Given the description of an element on the screen output the (x, y) to click on. 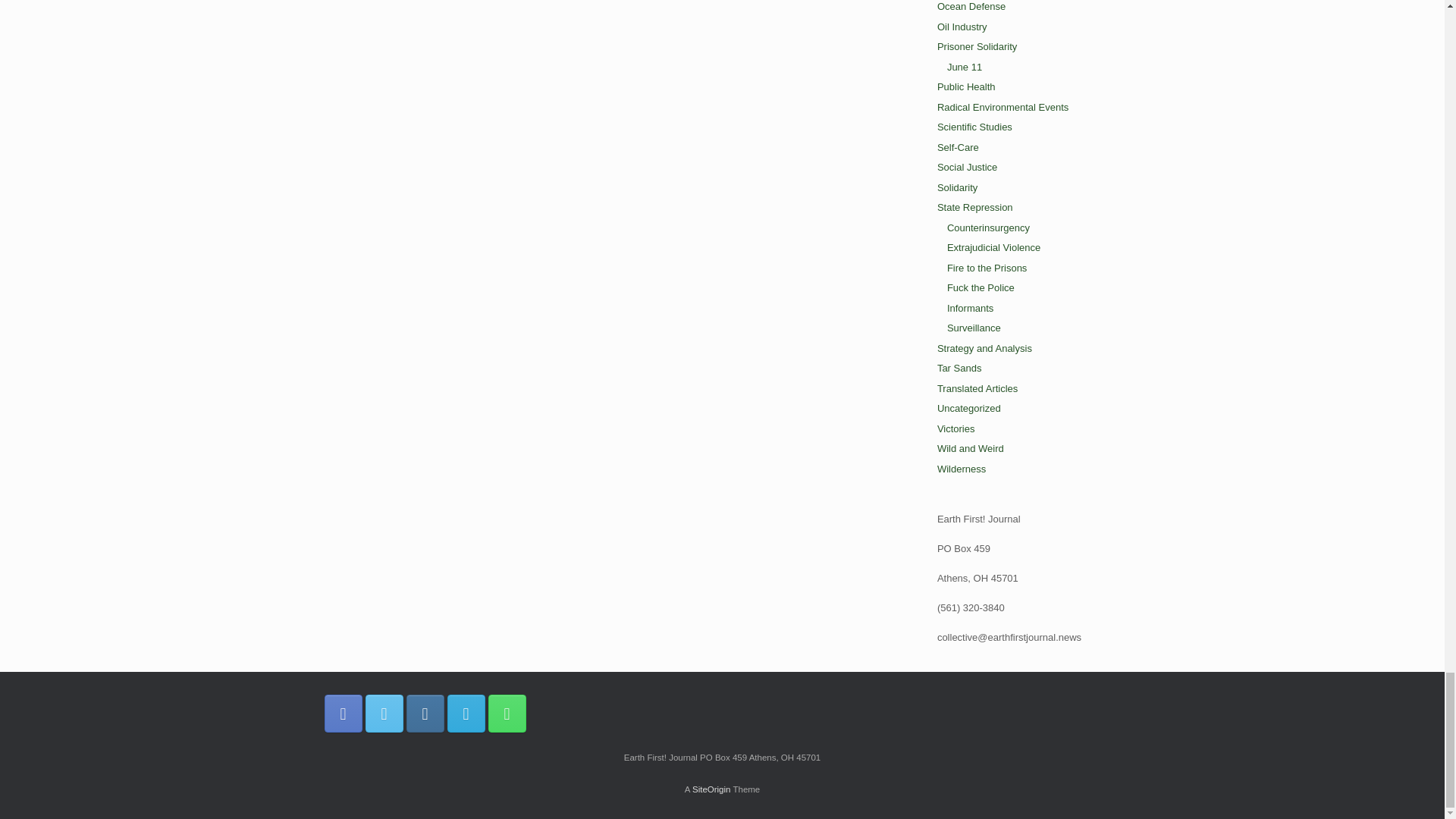
Earth First! Journal Instagram (425, 712)
Earth First! Journal Email (465, 712)
Earth First! Journal Facebook (343, 712)
Earth First! Journal Twitter (384, 712)
Earth First! Journal Phone (506, 712)
